Given the description of an element on the screen output the (x, y) to click on. 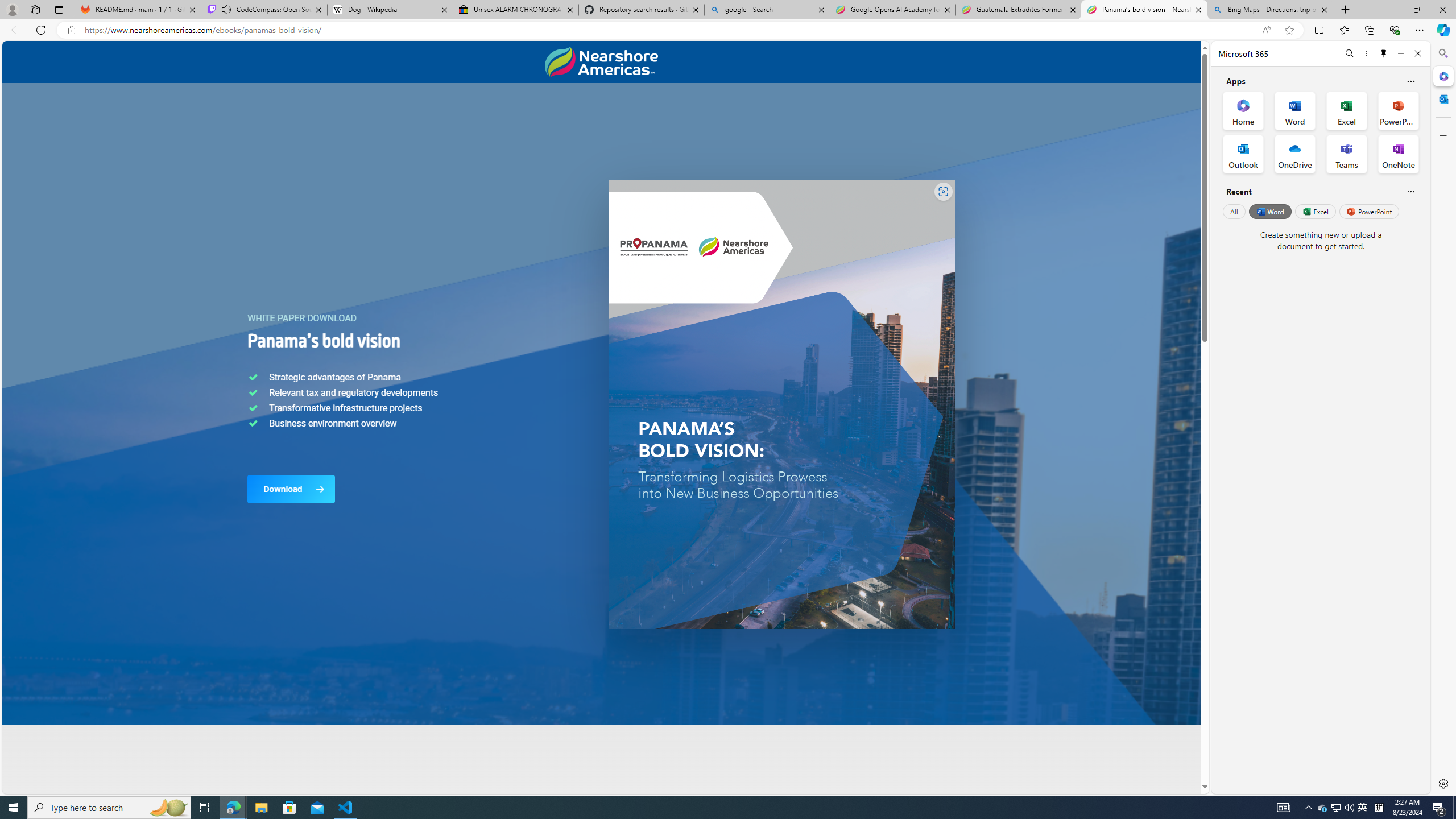
Google Opens AI Academy for Startups - Nearshore Americas (892, 9)
Unpin side pane (1383, 53)
All (1233, 210)
